Given the description of an element on the screen output the (x, y) to click on. 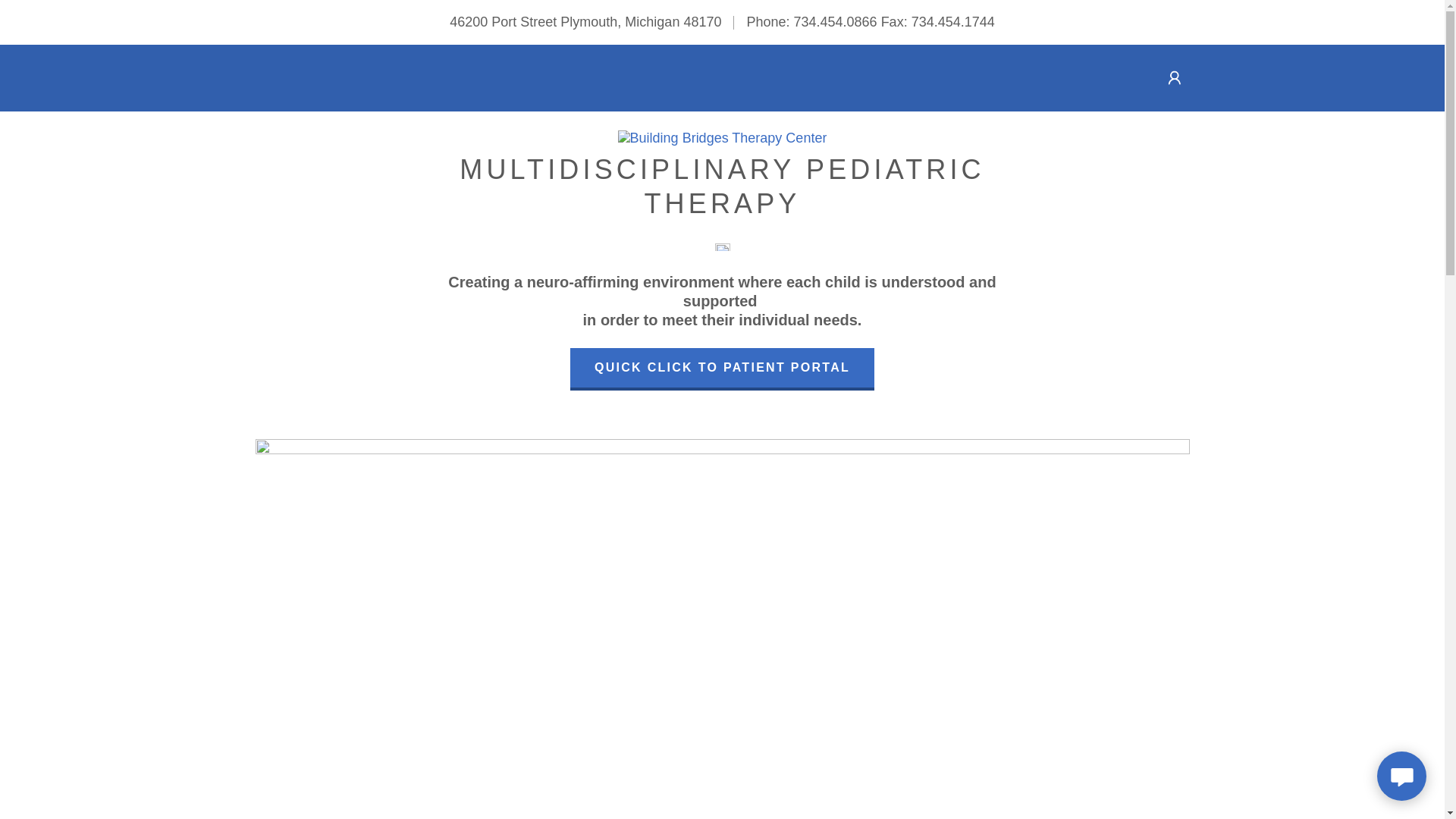
734.454.0866 (835, 21)
734.454.1744 (722, 136)
